Given the description of an element on the screen output the (x, y) to click on. 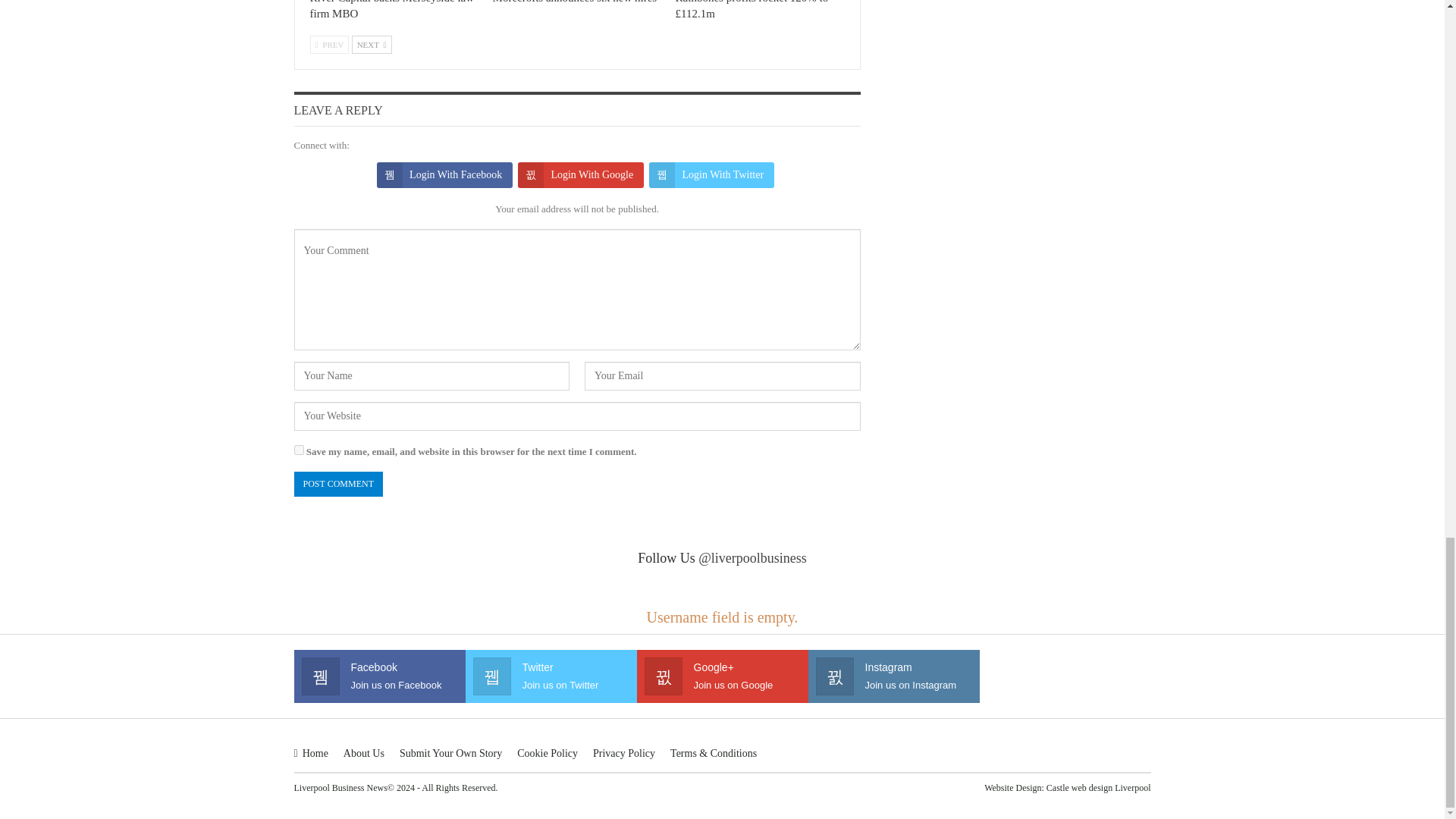
yes (299, 450)
Previous (328, 45)
Post Comment (338, 483)
Next (371, 45)
